Given the description of an element on the screen output the (x, y) to click on. 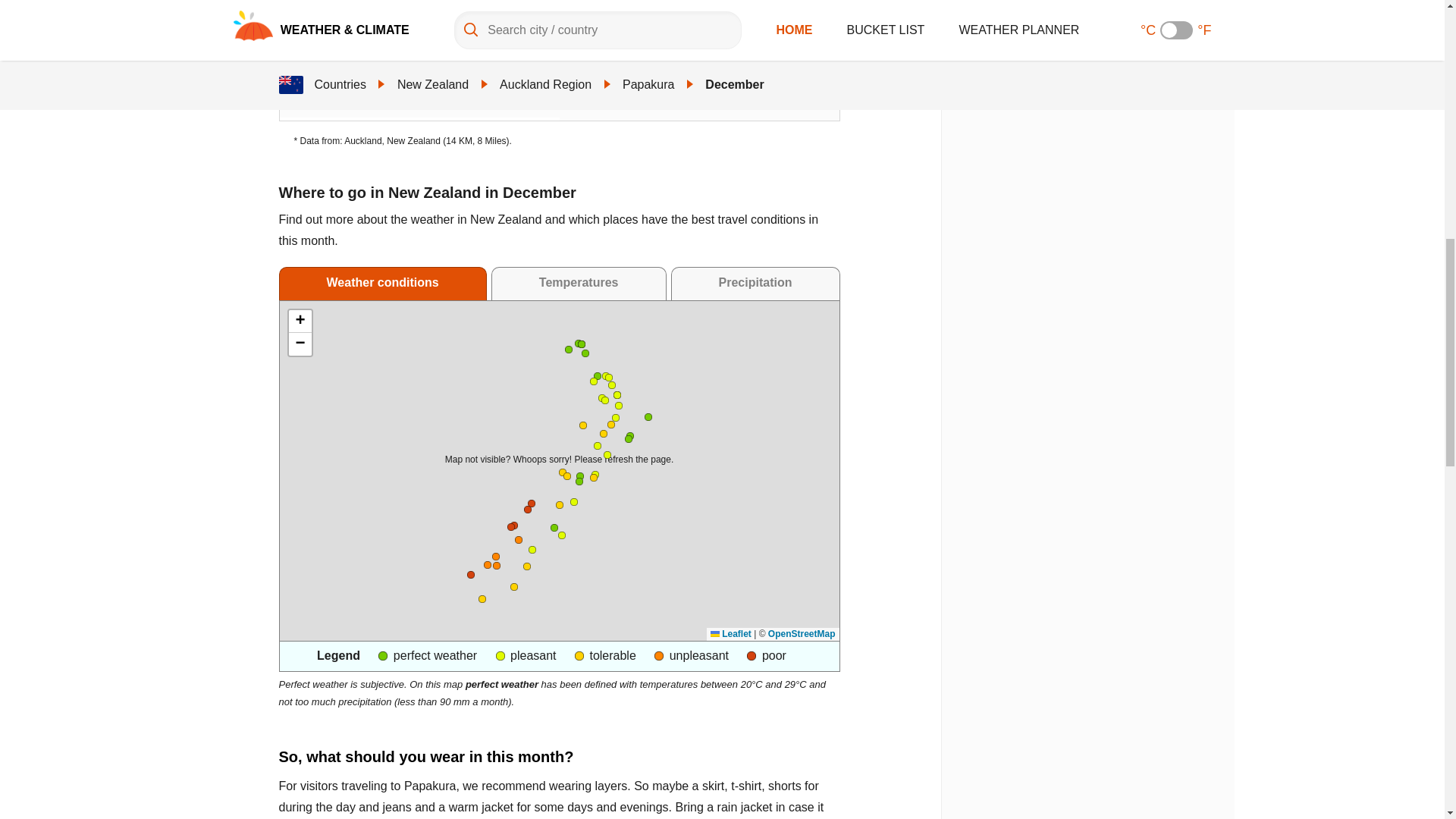
Zoom in (299, 321)
A JavaScript library for interactive maps (730, 633)
Zoom out (299, 343)
